Given the description of an element on the screen output the (x, y) to click on. 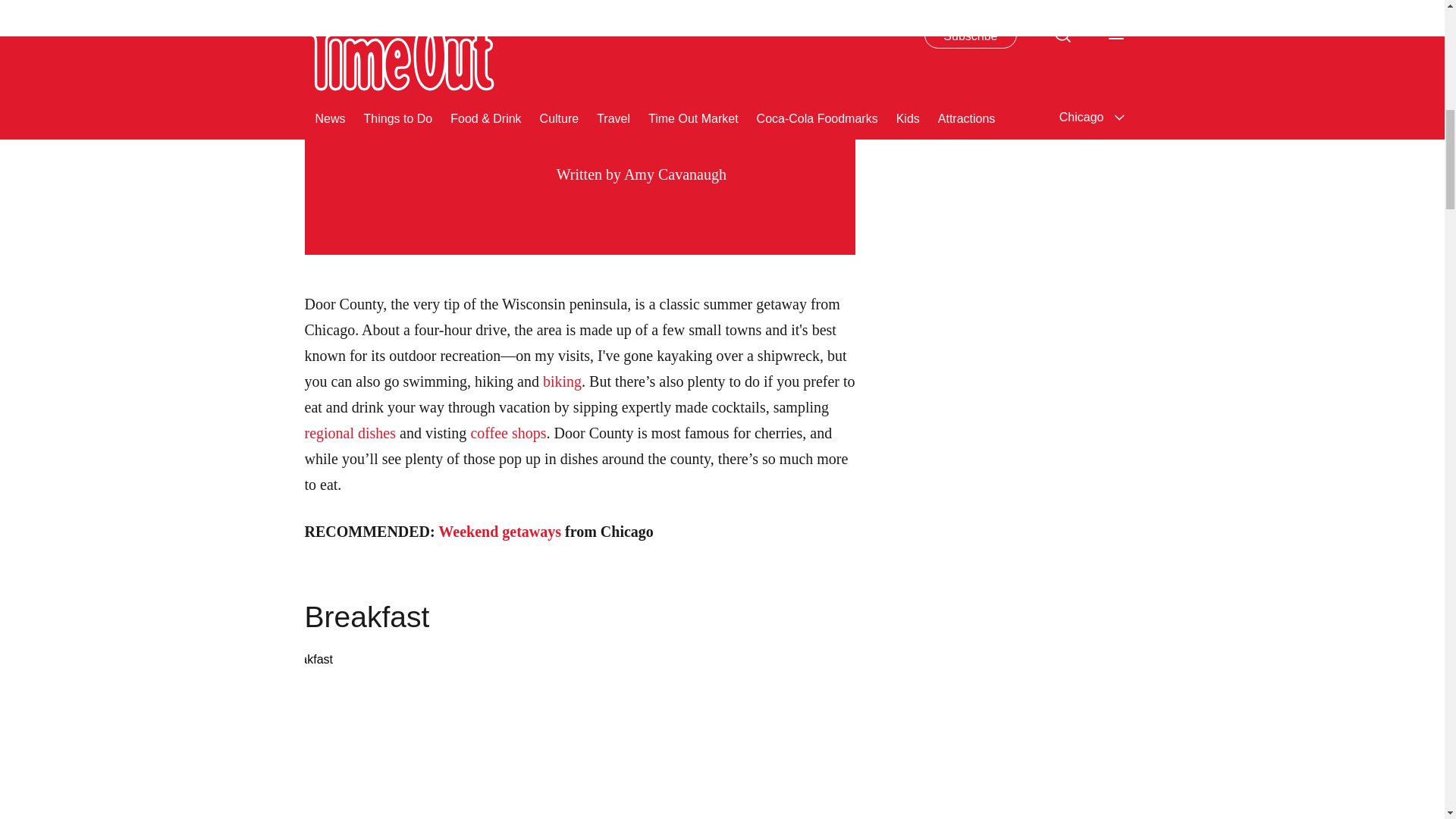
biking (561, 381)
Breakfast (568, 734)
